Given the description of an element on the screen output the (x, y) to click on. 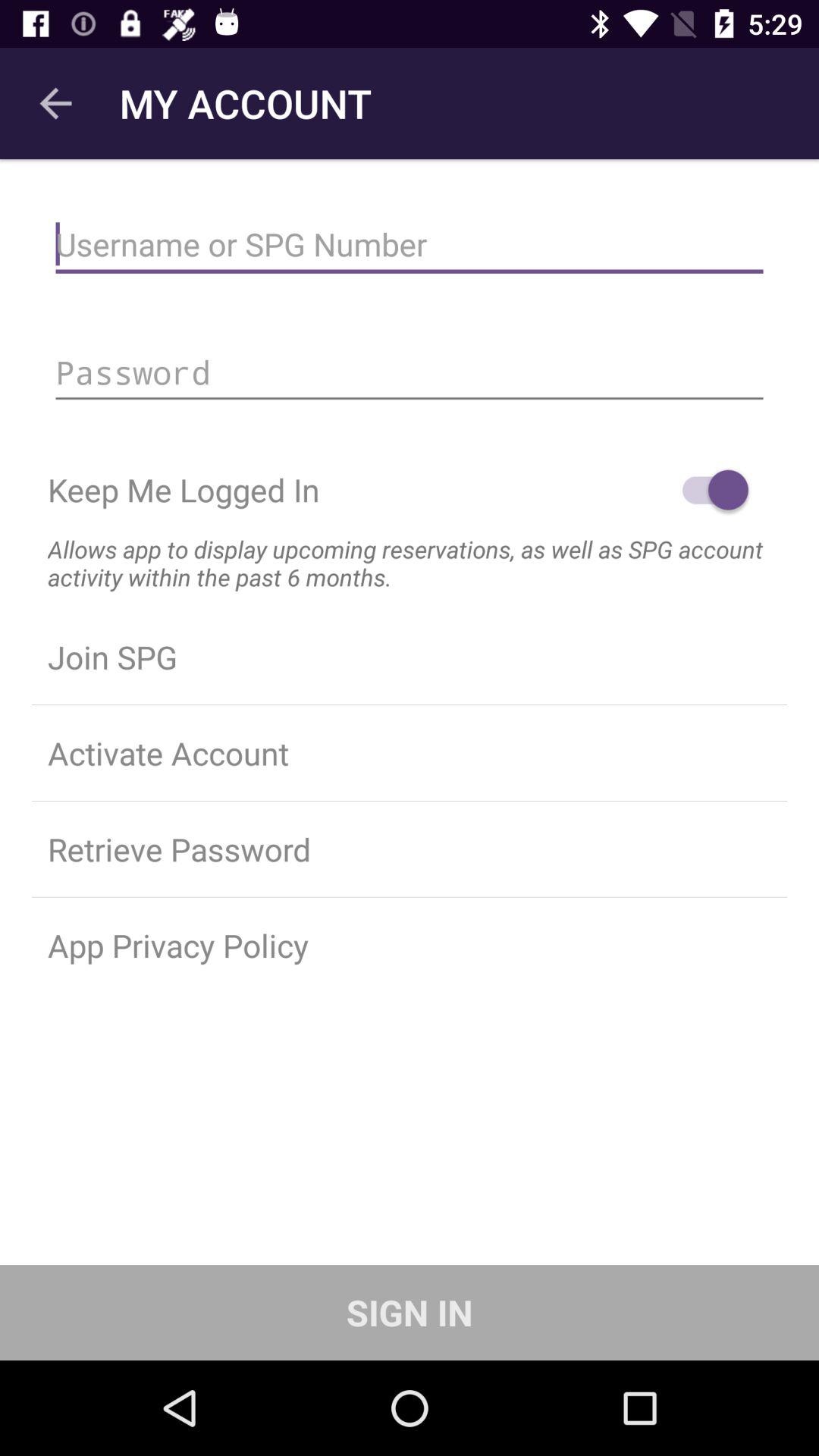
swipe until the join spg (409, 656)
